Given the description of an element on the screen output the (x, y) to click on. 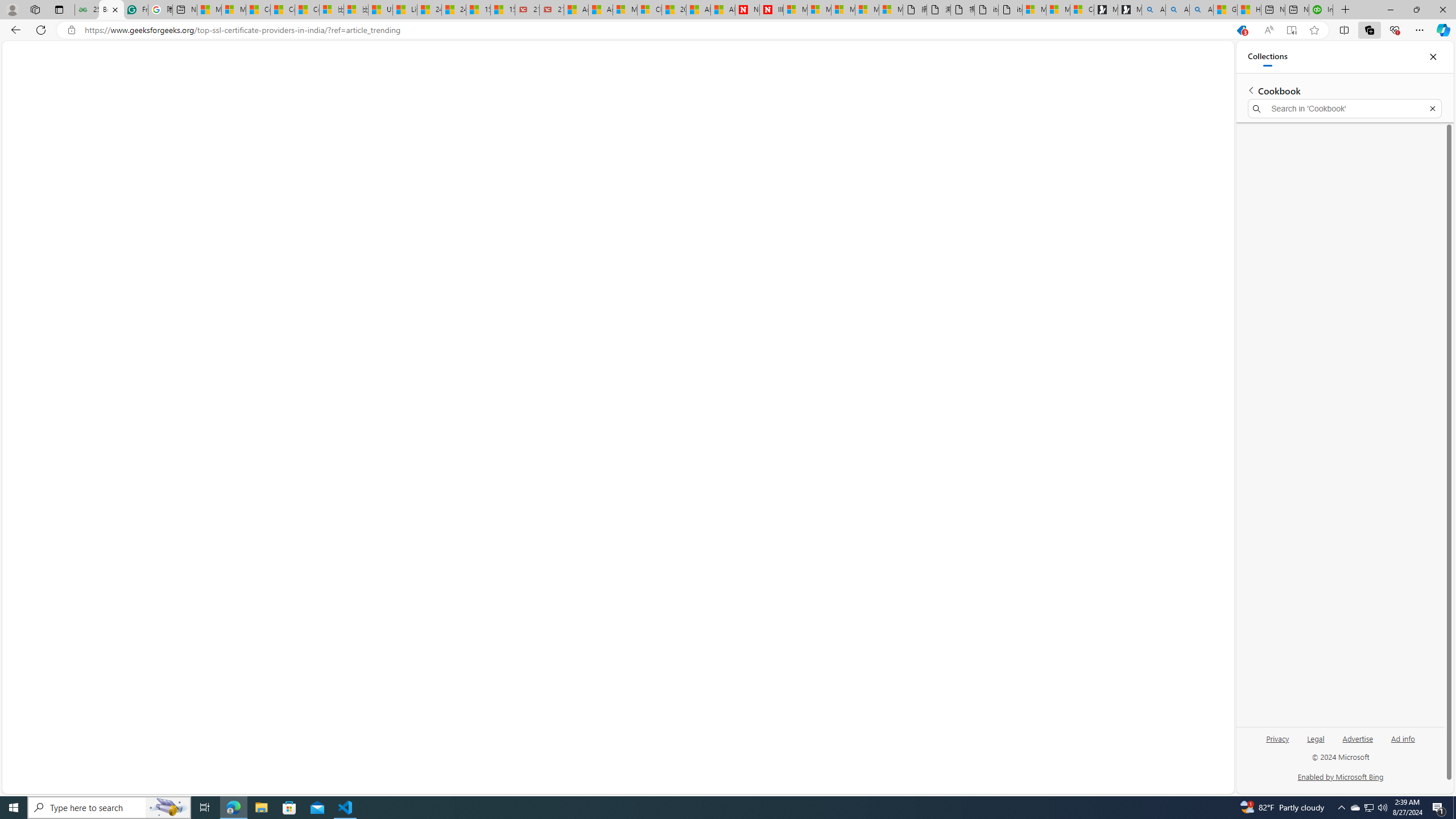
How to Use a TV as a Computer Monitor (1248, 9)
AutomationID: bg3 (155, 319)
Best SSL Certificates Provider in India - GeeksforGeeks (111, 9)
